Given the description of an element on the screen output the (x, y) to click on. 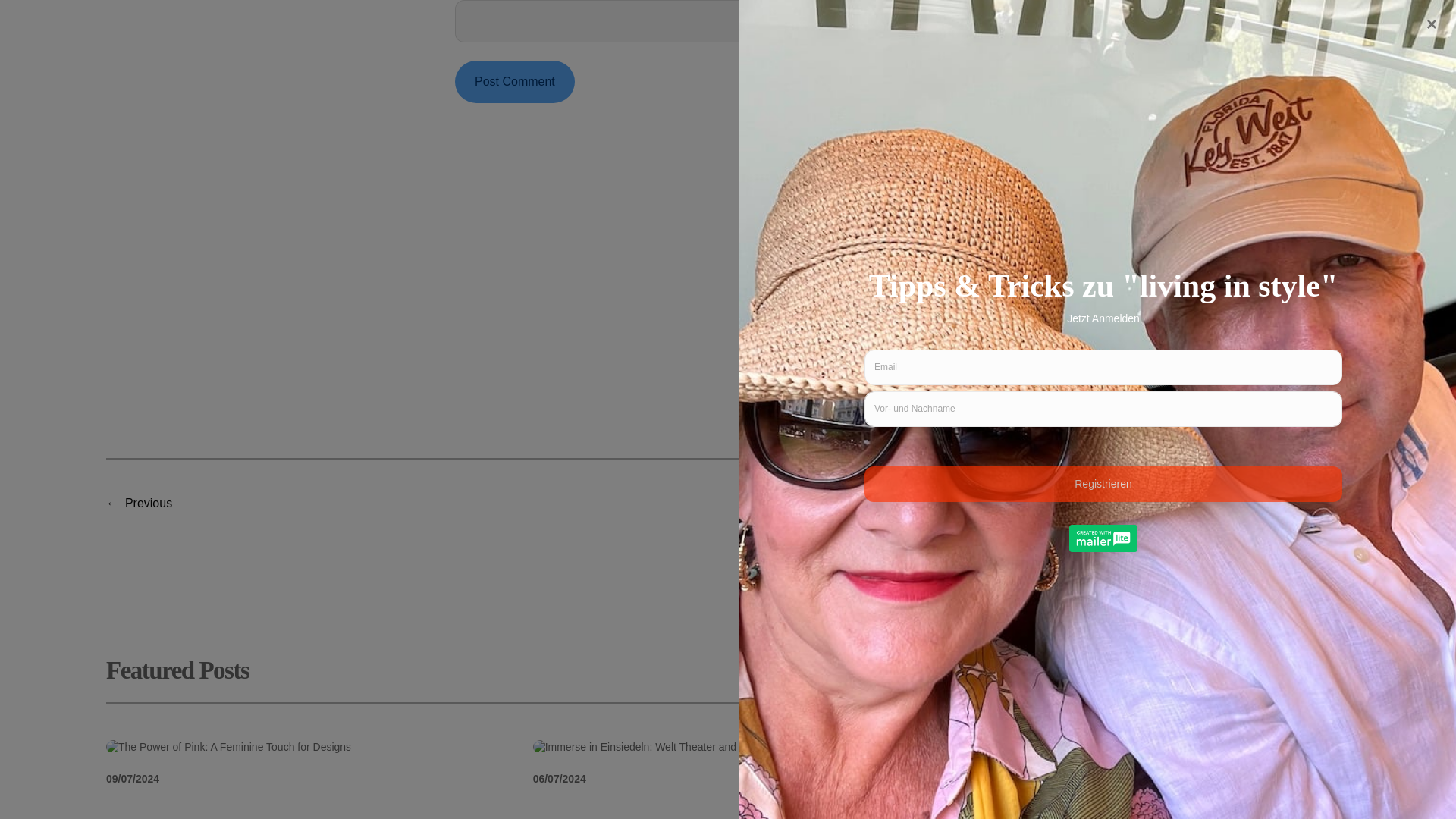
Post Comment (514, 81)
